Given the description of an element on the screen output the (x, y) to click on. 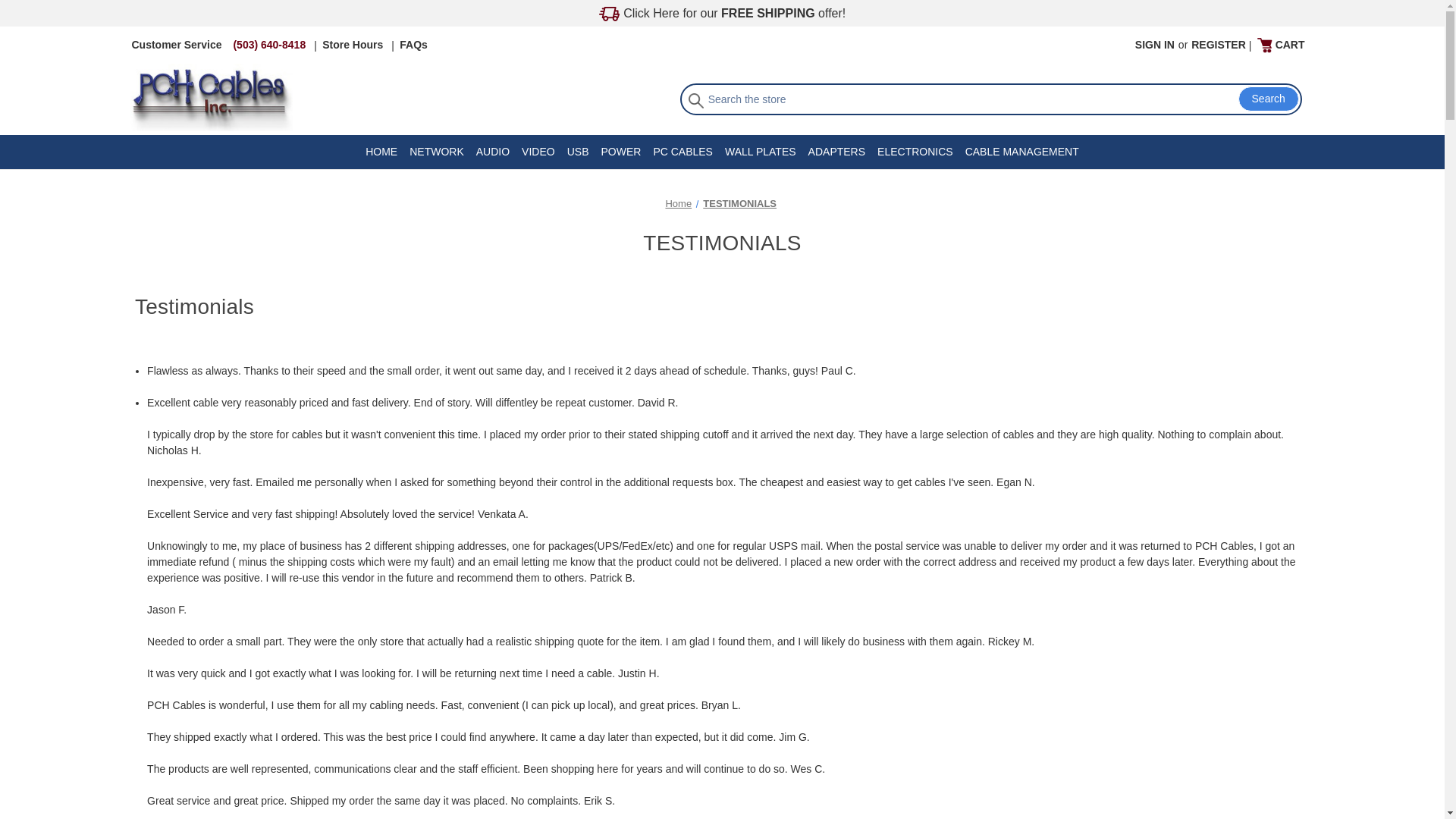
Search (1268, 98)
FAQs (413, 44)
HOME (381, 151)
SIGN IN (1154, 44)
NETWORK (436, 151)
Store Hours (352, 44)
CART (1281, 44)
Cable Gods of Hillsboro (211, 97)
REGISTER (1217, 44)
Click Here for our FREE SHIPPING offer! (721, 13)
